Given the description of an element on the screen output the (x, y) to click on. 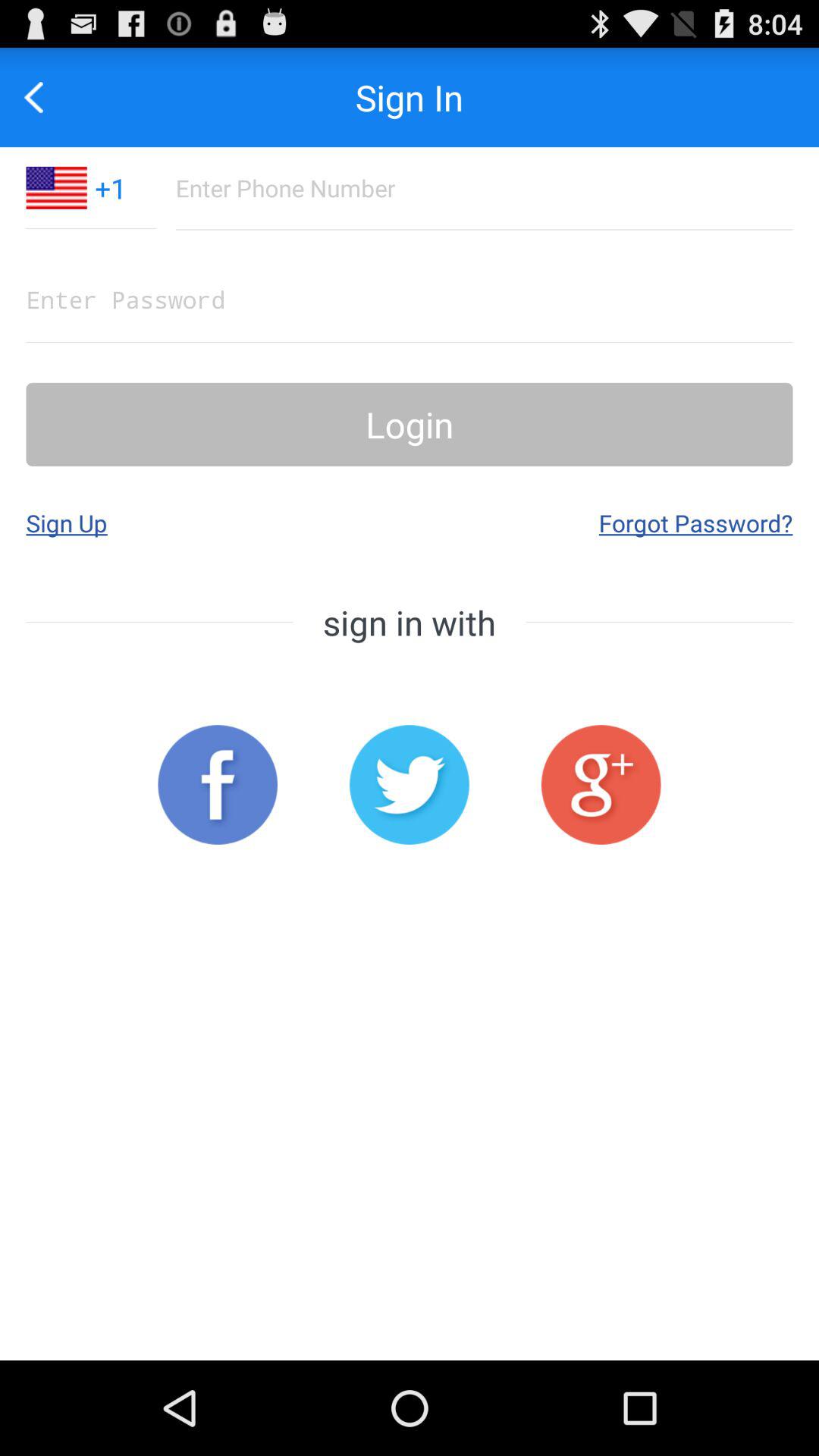
enter the password (409, 299)
